Given the description of an element on the screen output the (x, y) to click on. 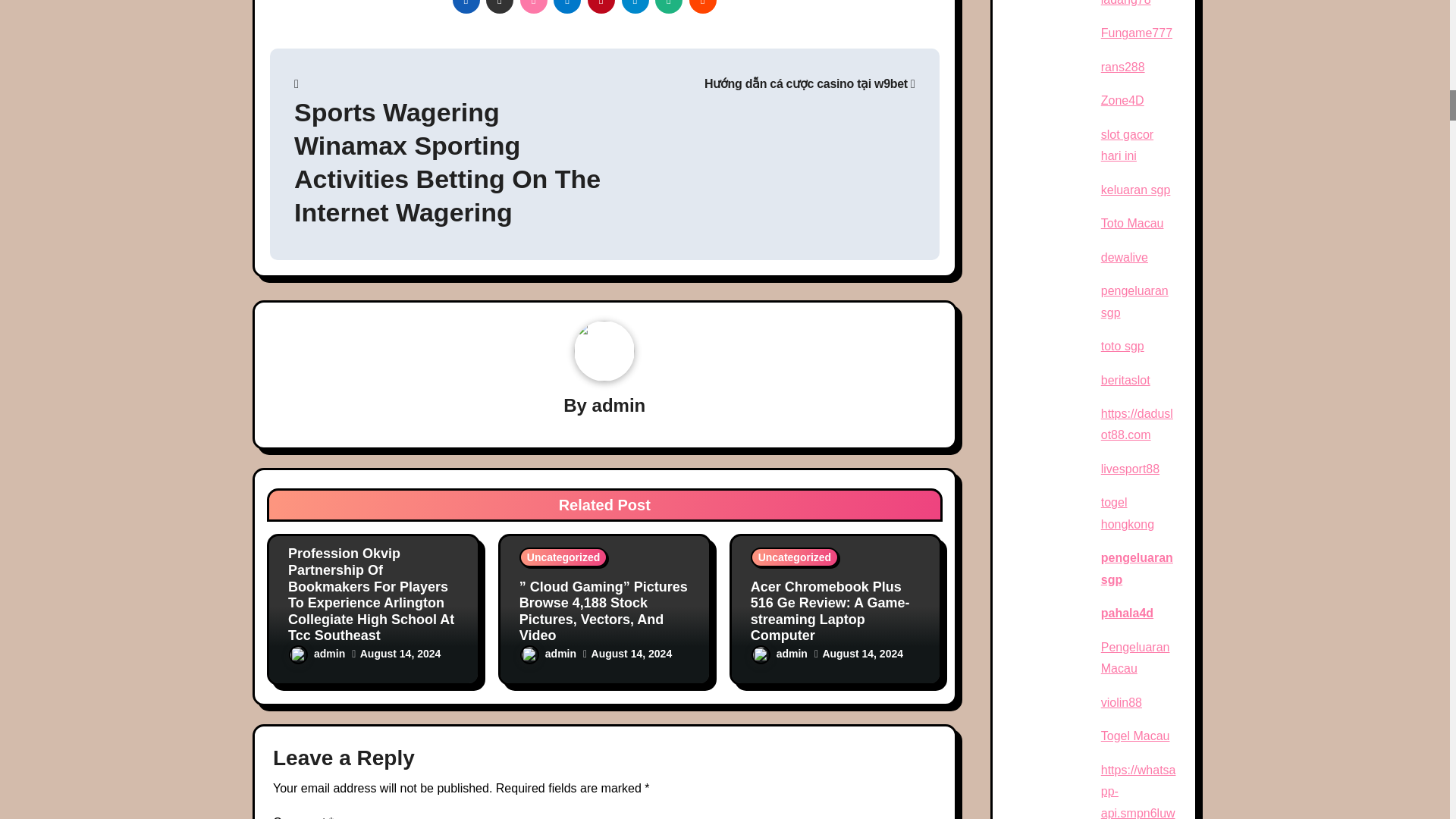
admin (619, 404)
admin (316, 653)
August 14, 2024 (400, 653)
Uncategorized (331, 523)
